Given the description of an element on the screen output the (x, y) to click on. 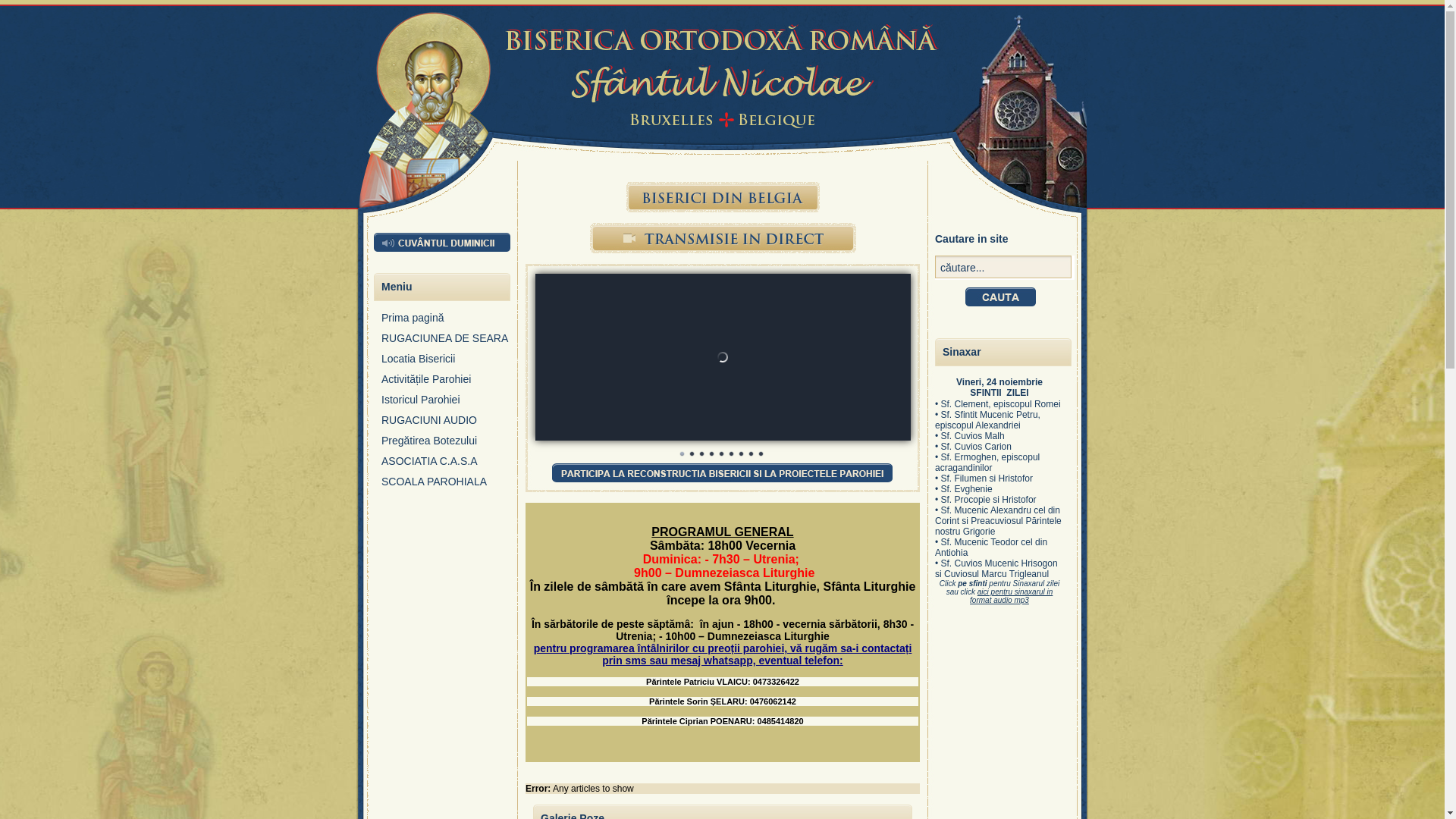
ASOCIATIA C.A.S.A Element type: text (445, 465)
RUGACIUNI AUDIO Element type: text (445, 424)
Locatia Bisericii Element type: text (445, 362)
aici pentru sinaxarul in format audio mp3 Element type: text (1010, 595)
Istoricul Parohiei Element type: text (445, 403)
RUGACIUNEA DE SEARA Element type: text (445, 342)
SCOALA PAROHIALA Element type: text (445, 485)
